Given the description of an element on the screen output the (x, y) to click on. 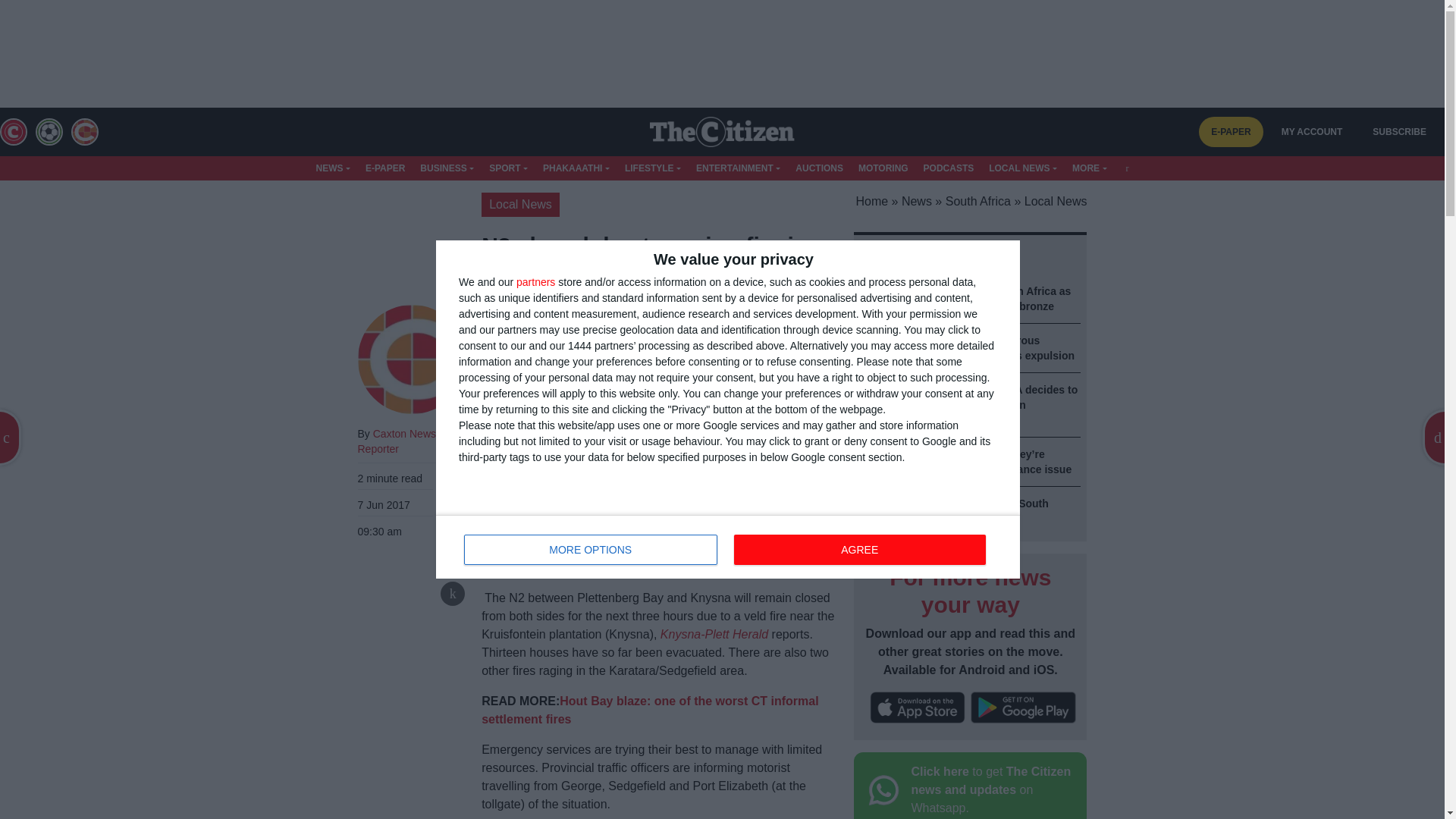
AGREE (859, 549)
partners (535, 281)
MORE OPTIONS (590, 549)
